Given the description of an element on the screen output the (x, y) to click on. 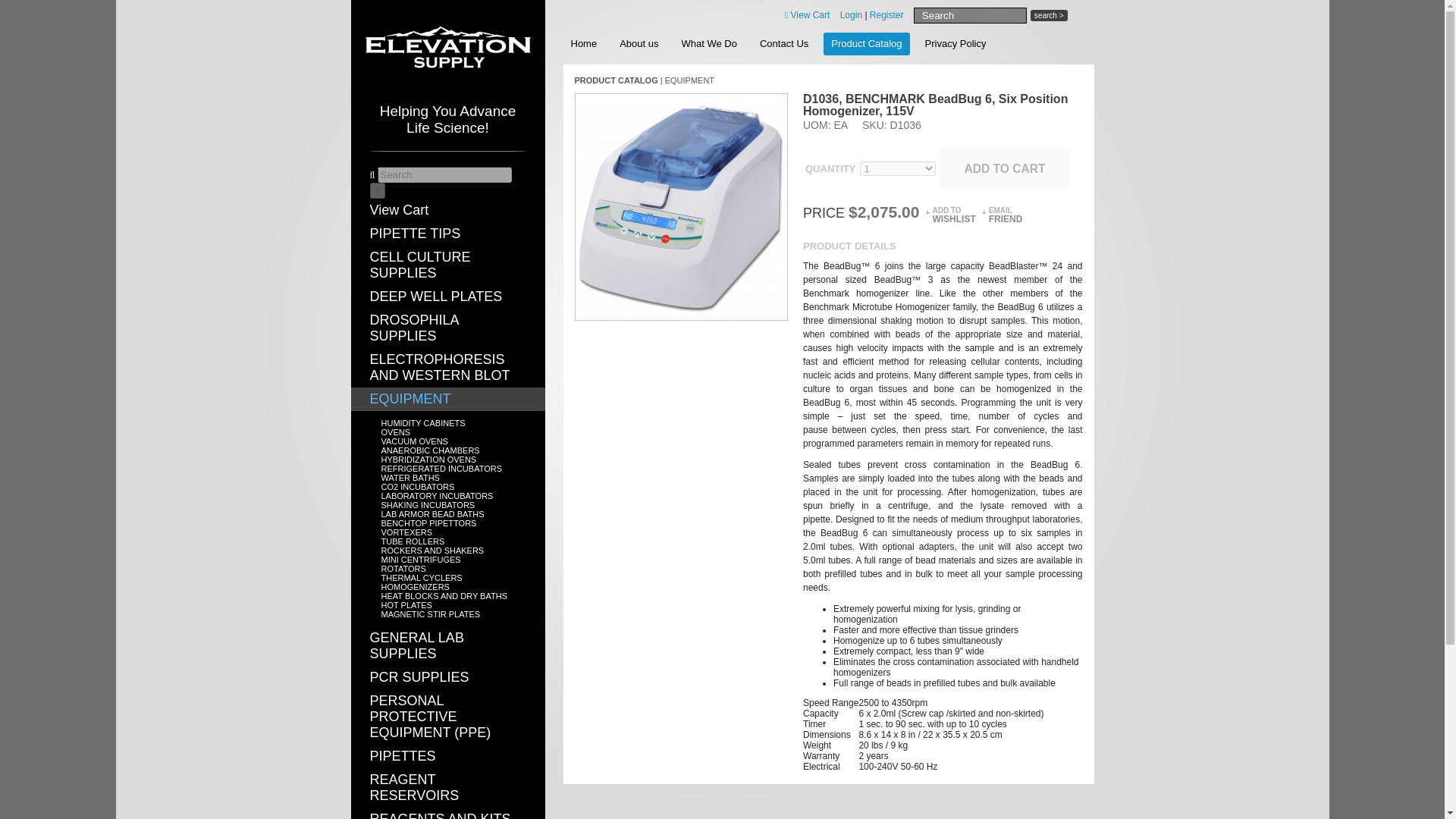
OVENS (395, 431)
MAGNETIC STIR PLATES (430, 614)
CELL CULTURE SUPPLIES (447, 265)
HEAT BLOCKS AND DRY BATHS (443, 595)
ROTATORS (402, 568)
ELECTROPHORESIS AND WESTERN BLOT (447, 367)
LAB ARMOR BEAD BATHS (431, 513)
HYBRIDIZATION OVENS (428, 459)
LABORATORY INCUBATORS (436, 495)
the link title (638, 43)
ANAEROBIC CHAMBERS (429, 450)
REAGENT RESERVOIRS (447, 787)
SHAKING INCUBATORS (427, 504)
TUBE ROLLERS (412, 541)
PIPETTES (447, 756)
